Given the description of an element on the screen output the (x, y) to click on. 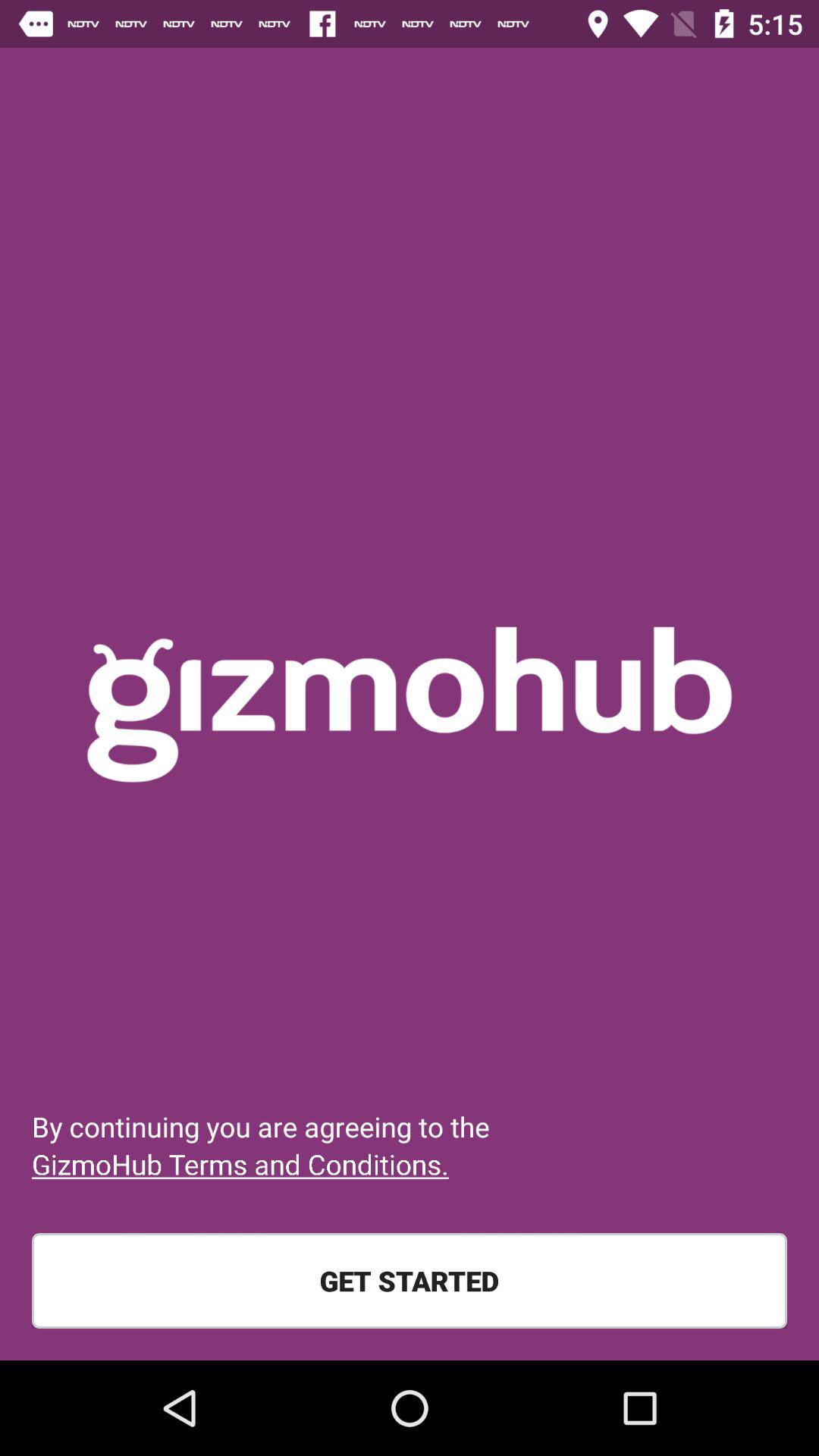
swipe to get started item (409, 1280)
